Given the description of an element on the screen output the (x, y) to click on. 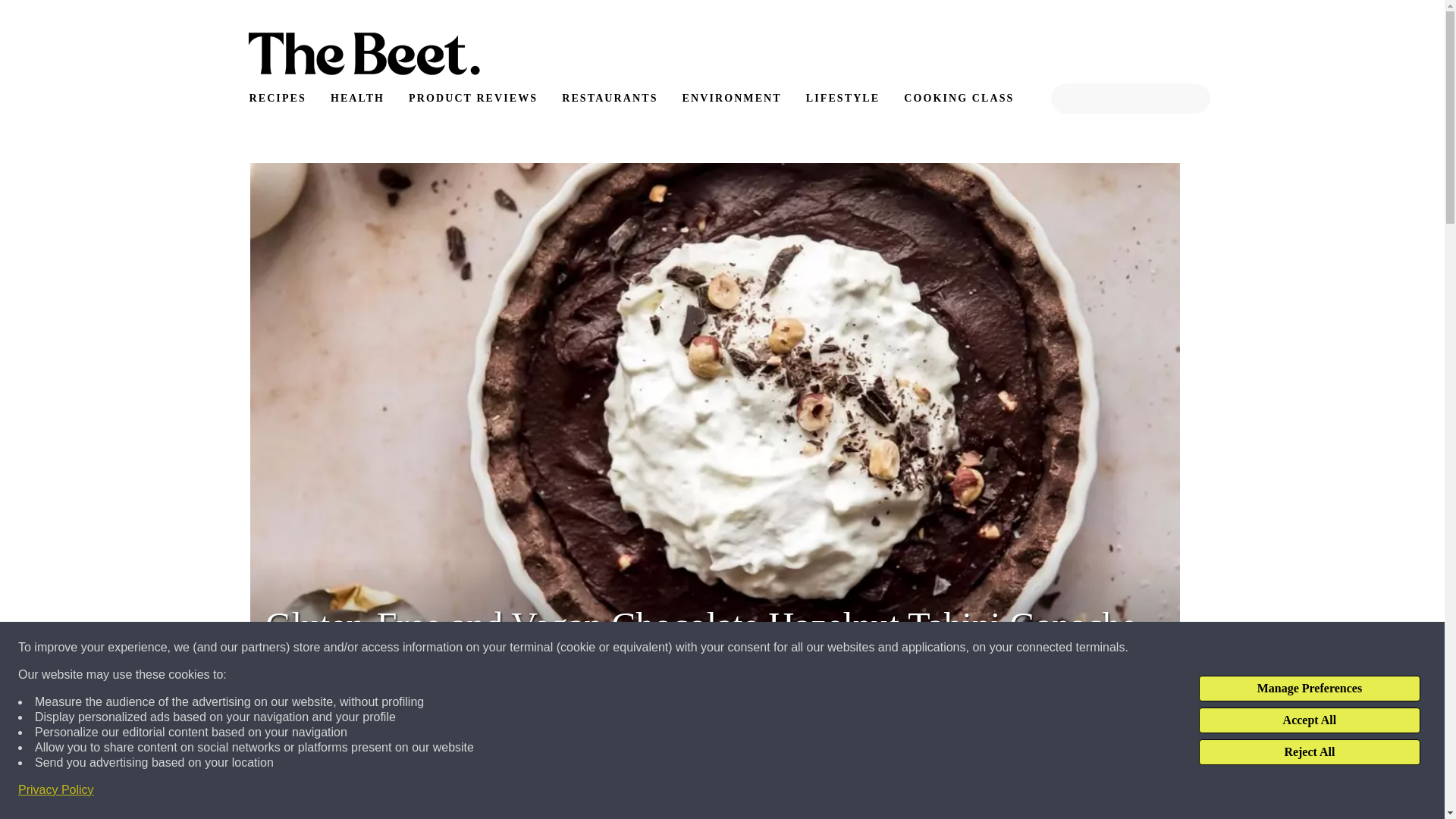
Accept All (1309, 720)
RESTAURANTS (609, 98)
Manage Preferences (1309, 688)
Privacy Policy (55, 789)
RECIPES (276, 98)
ENVIRONMENT (731, 98)
Reject All (1309, 751)
Share on Facebook (283, 797)
PRODUCT REVIEWS (473, 98)
LIFESTYLE (842, 98)
HEALTH (357, 98)
